Given the description of an element on the screen output the (x, y) to click on. 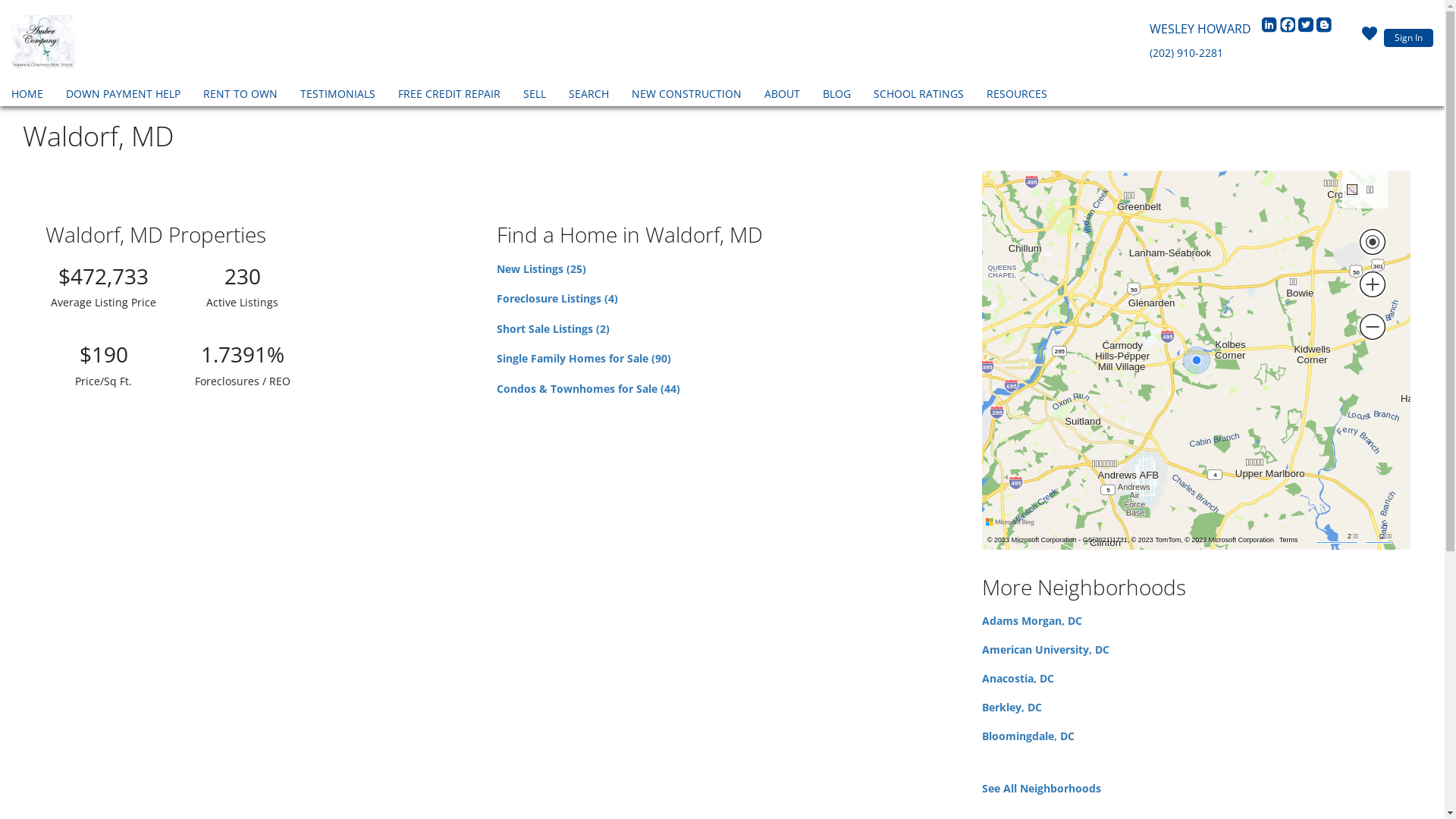
Short Sale Listings (2) Element type: text (552, 328)
Adams Morgan, DC Element type: text (1032, 620)
Sign In Element type: text (1408, 37)
Click here to sign in Element type: hover (1369, 37)
Blogger Element type: hover (1323, 28)
Twitter Element type: hover (1307, 28)
LinkedIn Element type: hover (1270, 28)
(202) 910-2281 Element type: text (1186, 52)
DOWN PAYMENT HELP Element type: text (123, 95)
New Listings (25) Element type: text (541, 268)
ABOUT Element type: text (781, 95)
Microsoft Bing Element type: hover (1011, 521)
NEW CONSTRUCTION Element type: text (686, 95)
SEARCH Element type: text (588, 95)
RESOURCES Element type: text (1016, 95)
Berkley, DC Element type: text (1011, 706)
Foreclosure Listings (4) Element type: text (557, 298)
HOME Element type: text (27, 95)
American University, DC Element type: text (1045, 649)
SELL Element type: text (534, 95)
Bloomingdale, DC Element type: text (1028, 735)
Facebook Element type: hover (1289, 28)
Terms Element type: text (1288, 540)
Anacostia, DC Element type: text (1018, 678)
FREE CREDIT REPAIR Element type: text (449, 95)
Single Family Homes for Sale (90) Element type: text (583, 358)
SCHOOL RATINGS Element type: text (918, 95)
See All Neighborhoods Element type: text (1041, 788)
Condos & Townhomes for Sale (44) Element type: text (588, 388)
TESTIMONIALS Element type: text (337, 95)
RENT TO OWN Element type: text (240, 95)
BLOG Element type: text (836, 95)
